Given the description of an element on the screen output the (x, y) to click on. 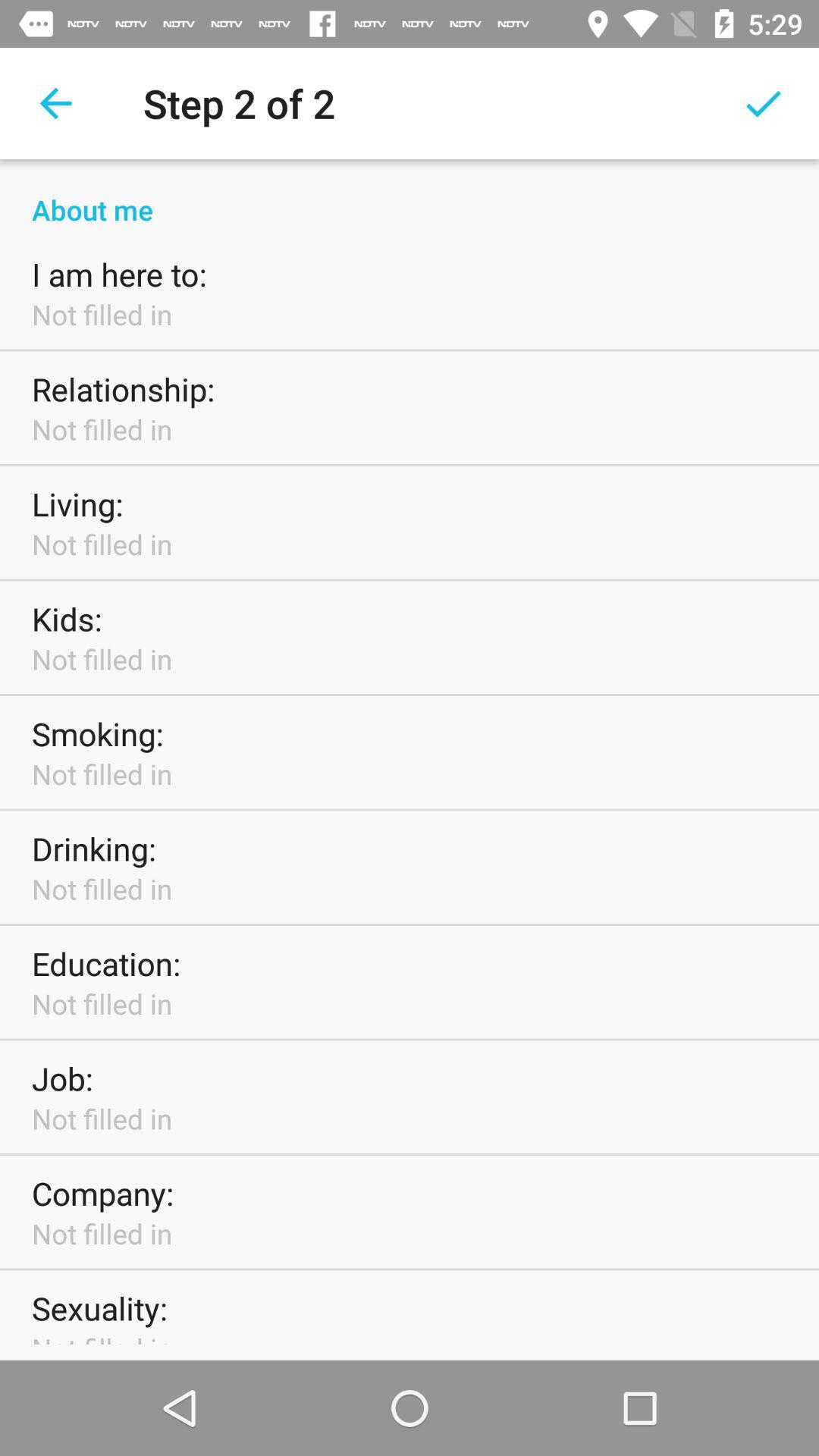
choose icon next to the step 2 of icon (763, 103)
